Given the description of an element on the screen output the (x, y) to click on. 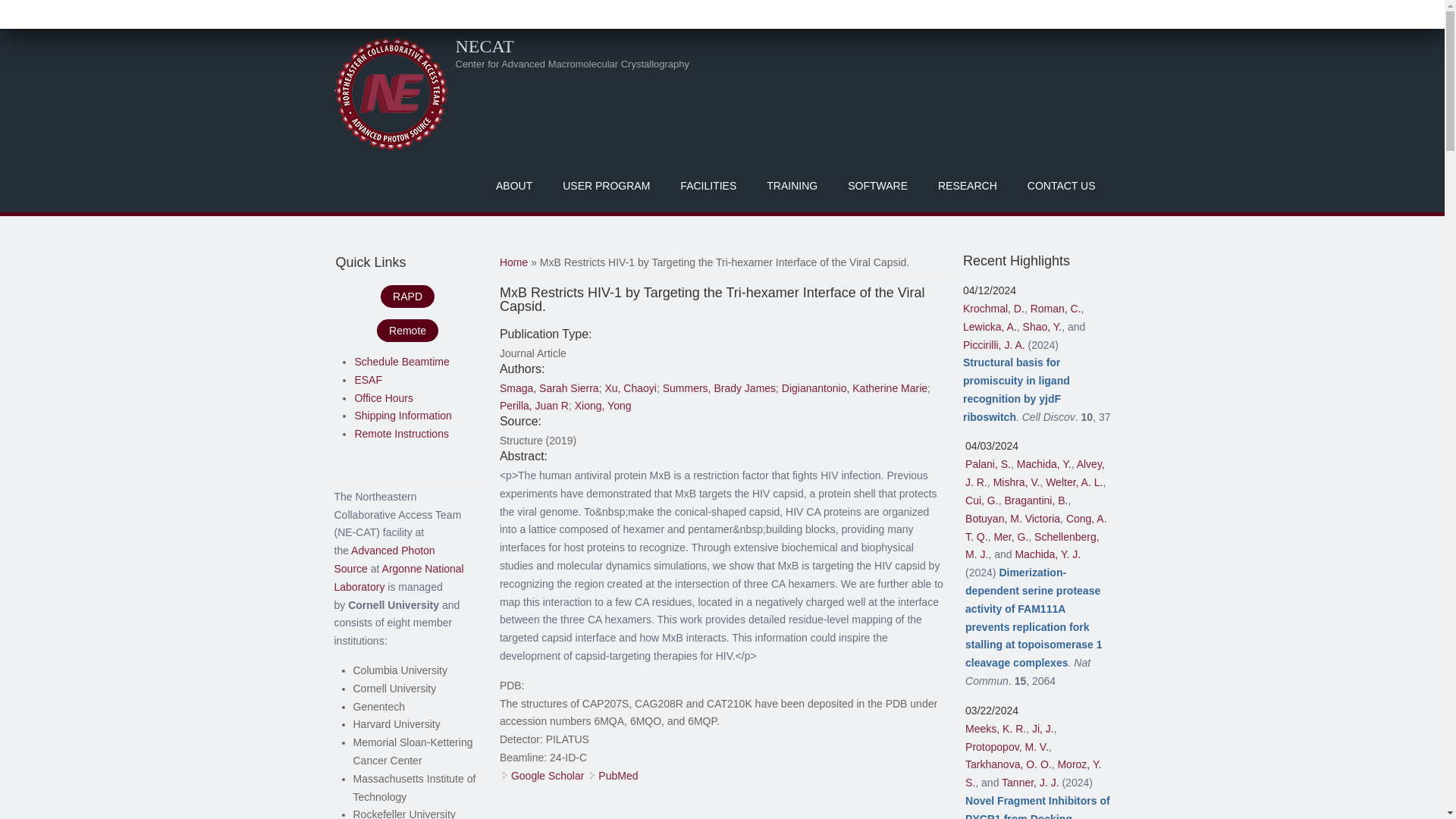
USER PROGRAM (606, 185)
NECAT (483, 45)
Home (483, 45)
ABOUT (513, 185)
Home (389, 93)
